Given the description of an element on the screen output the (x, y) to click on. 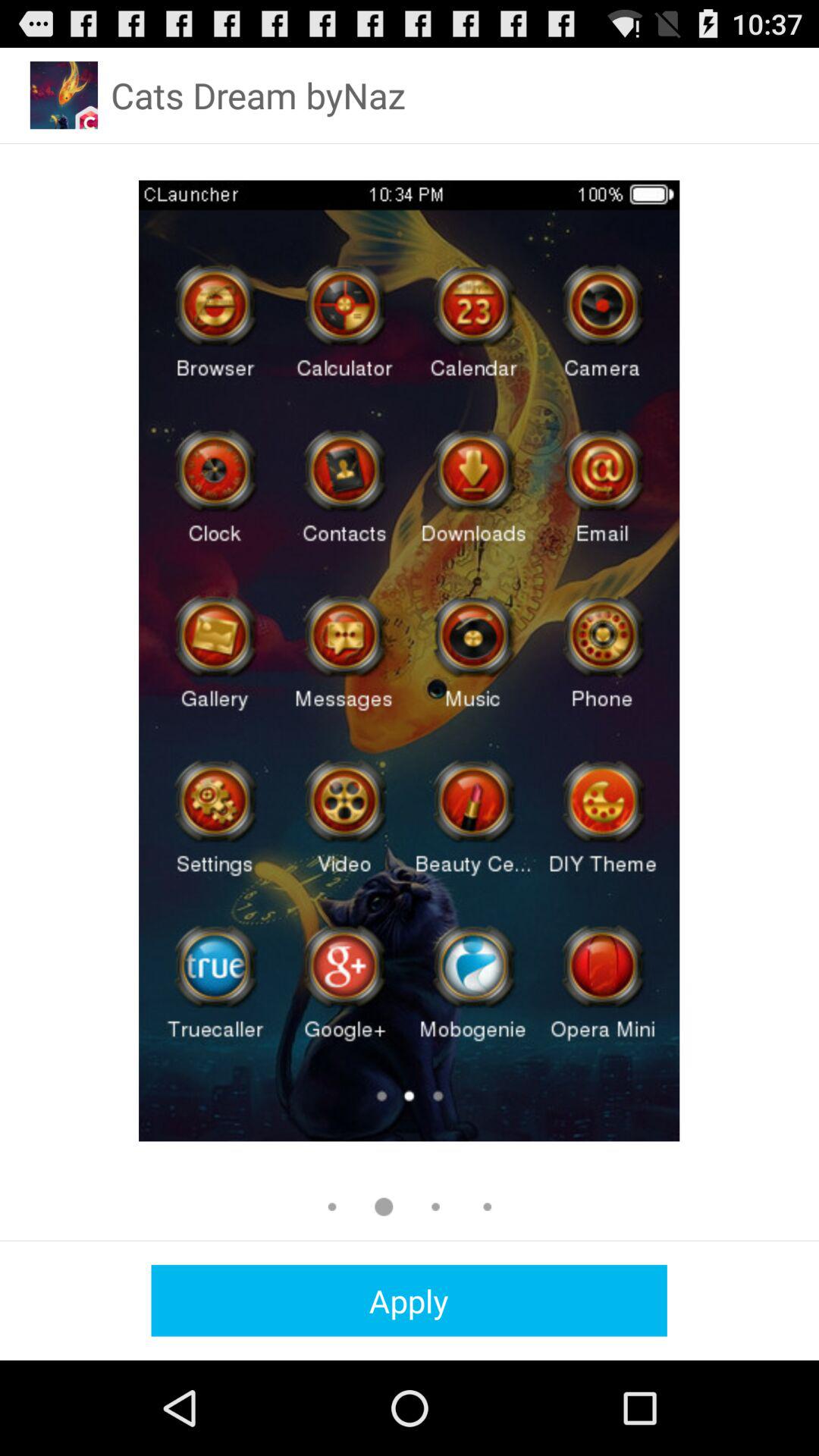
launch apply icon (409, 1300)
